Given the description of an element on the screen output the (x, y) to click on. 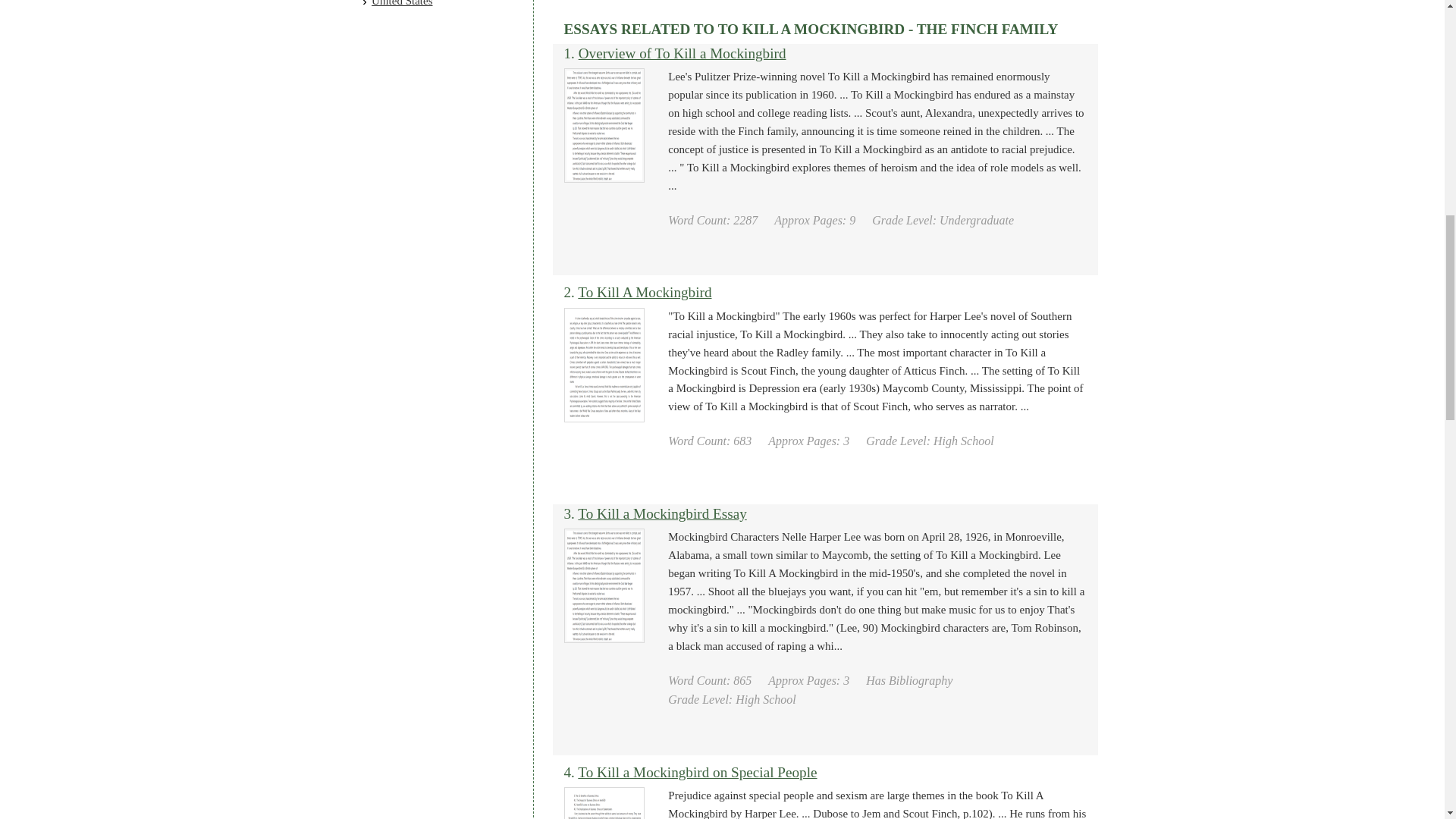
To Kill a Mockingbird on Special People (697, 772)
To Kill a Mockingbird Essay (661, 513)
United States (401, 3)
Overview of To Kill a Mockingbird (682, 53)
To Kill A Mockingbird (644, 292)
